Given the description of an element on the screen output the (x, y) to click on. 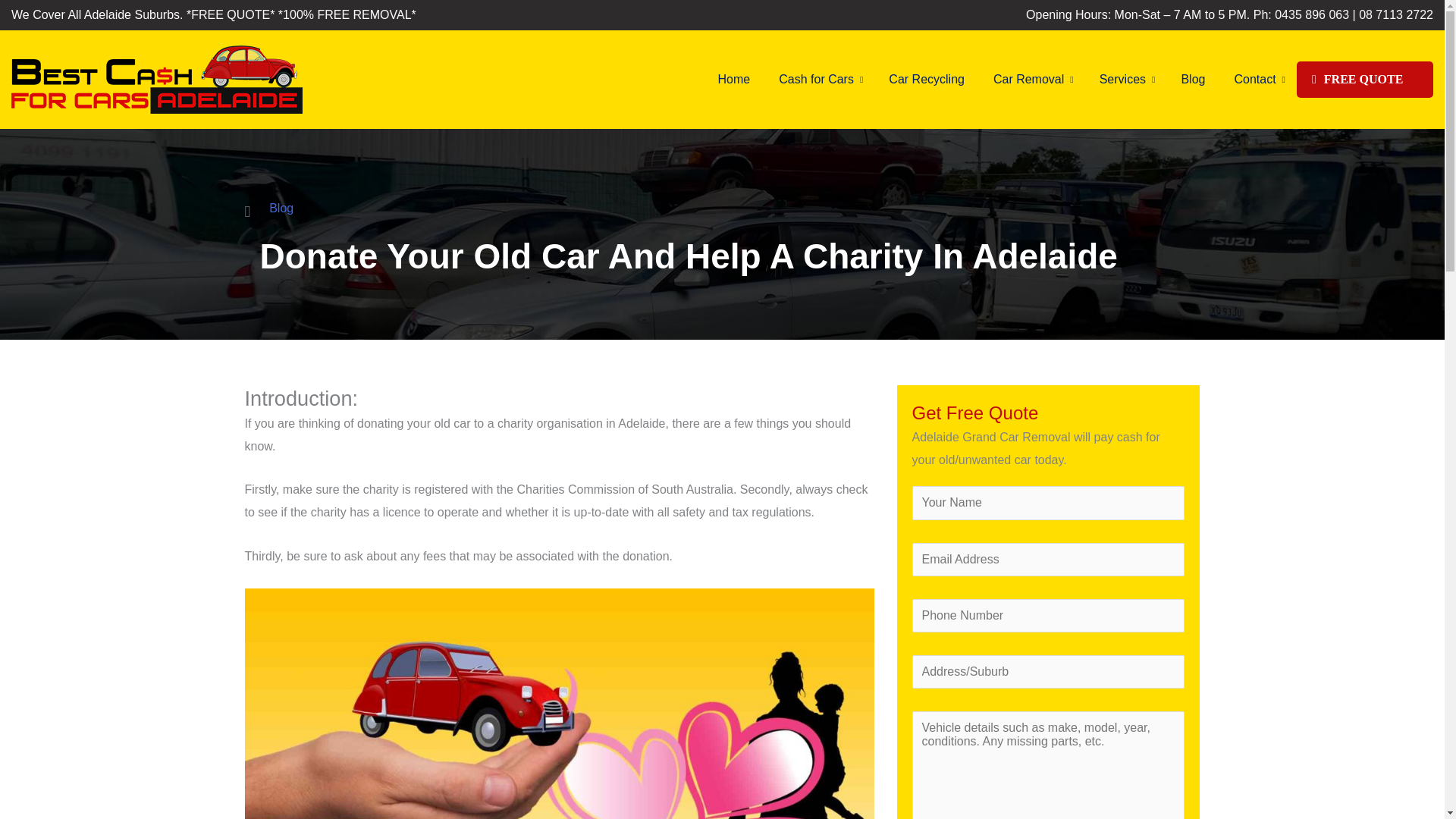
Car Removal (1031, 78)
FREE QUOTE (1364, 79)
Blog (1193, 78)
Services (1125, 78)
Contact (1258, 78)
0435 896 063 (1312, 14)
Home (734, 78)
Cash for Cars (819, 78)
Car Recycling (926, 78)
08 7113 2722 (1395, 14)
Blog (281, 207)
